Given the description of an element on the screen output the (x, y) to click on. 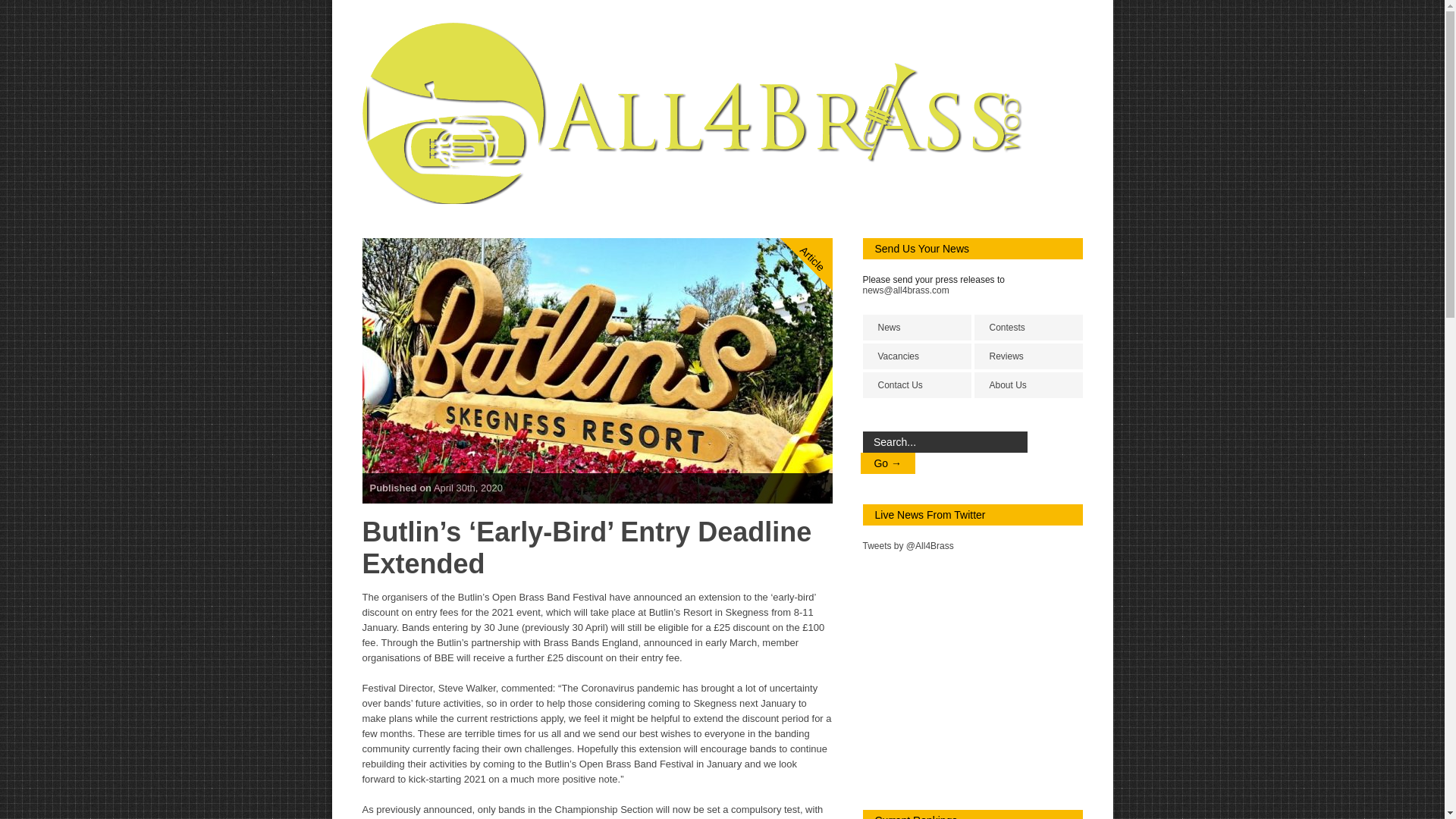
About Us (1027, 385)
Search... (945, 441)
Search... (945, 441)
Article (828, 196)
Vacancies (917, 356)
Contests (1027, 327)
Reviews (1027, 356)
Contact Us (917, 385)
News (917, 327)
